Given the description of an element on the screen output the (x, y) to click on. 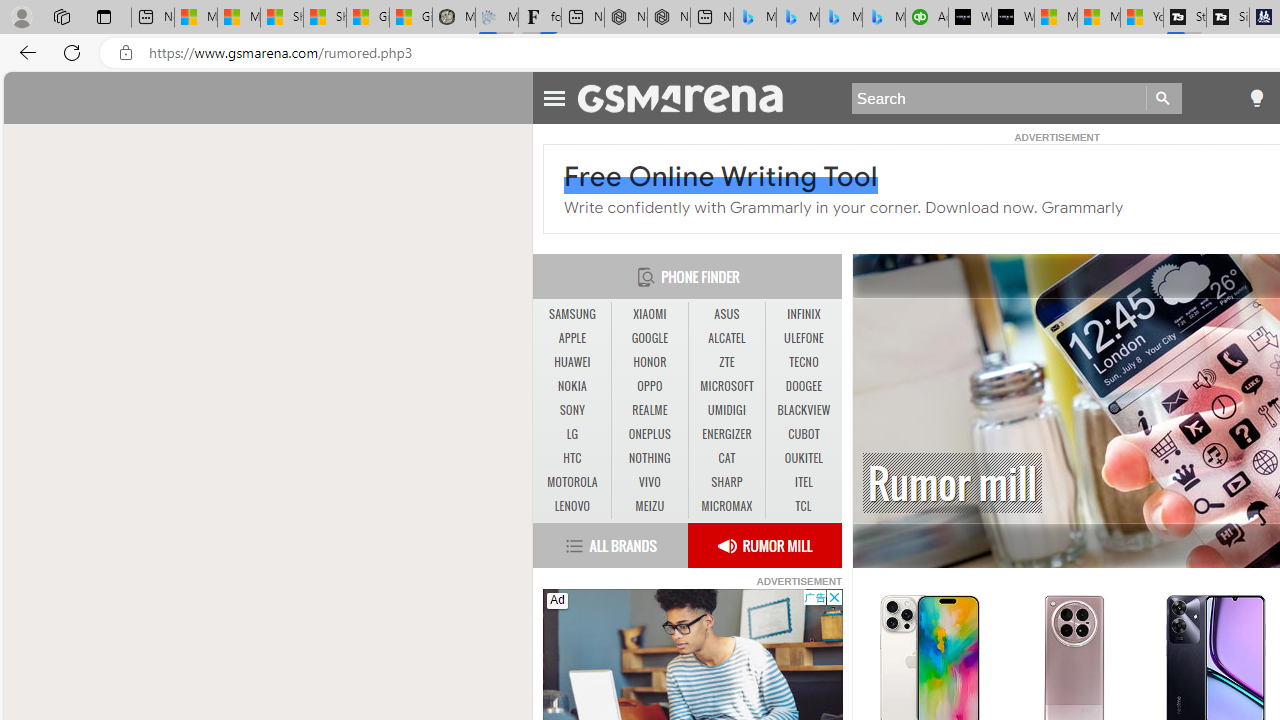
LG (571, 434)
SONY (571, 411)
MOTOROLA (571, 482)
ONEPLUS (649, 434)
Accounting Software for Accountants, CPAs and Bookkeepers (927, 17)
AutomationID: anchor (689, 97)
DOOGEE (803, 386)
HUAWEI (571, 362)
SONY (571, 410)
INFINIX (803, 314)
Free Online Writing Tool (721, 176)
OUKITEL (803, 458)
TECNO (803, 362)
